Given the description of an element on the screen output the (x, y) to click on. 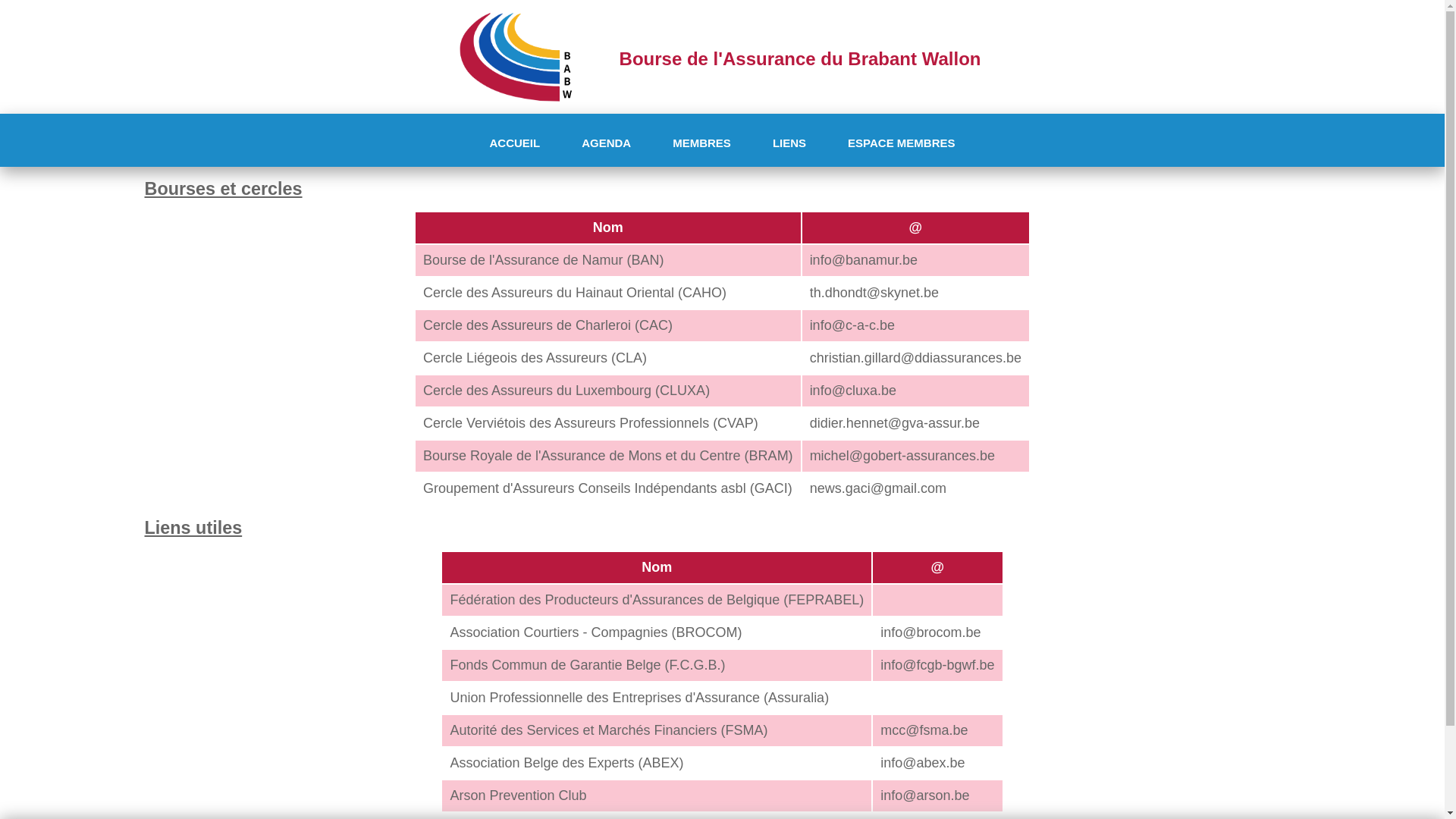
AGENDA Element type: text (605, 142)
Arson Prevention Club Element type: text (517, 795)
MEMBRES Element type: text (701, 142)
Fonds Commun de Garantie Belge (F.C.G.B.) Element type: text (586, 664)
info@c-a-c.be Element type: text (851, 324)
michel@gobert-assurances.be Element type: text (901, 455)
christian.gillard@ddiassurances.be Element type: text (915, 357)
didier.hennet@gva-assur.be Element type: text (894, 422)
info@abex.be Element type: text (922, 762)
LIENS Element type: text (789, 142)
info@arson.be Element type: text (924, 795)
Cercle des Assureurs du Luxembourg (CLUXA) Element type: text (566, 390)
Bourse de l'Assurance de Namur (BAN) Element type: text (543, 259)
ESPACE MEMBRES Element type: text (900, 142)
info@fcgb-bgwf.be Element type: text (937, 664)
news.gaci@gmail.com Element type: text (877, 487)
Cercle des Assureurs de Charleroi (CAC) Element type: text (547, 324)
info@cluxa.be Element type: text (852, 390)
ACCUEIL Element type: text (514, 142)
info@brocom.be Element type: text (930, 632)
mcc@fsma.be Element type: text (923, 729)
Bourse Royale de l'Assurance de Mons et du Centre (BRAM) Element type: text (608, 455)
Association Courtiers - Compagnies (BROCOM) Element type: text (595, 632)
info@banamur.be Element type: text (863, 259)
th.dhondt@skynet.be Element type: text (873, 292)
Association Belge des Experts (ABEX) Element type: text (566, 762)
